Given the description of an element on the screen output the (x, y) to click on. 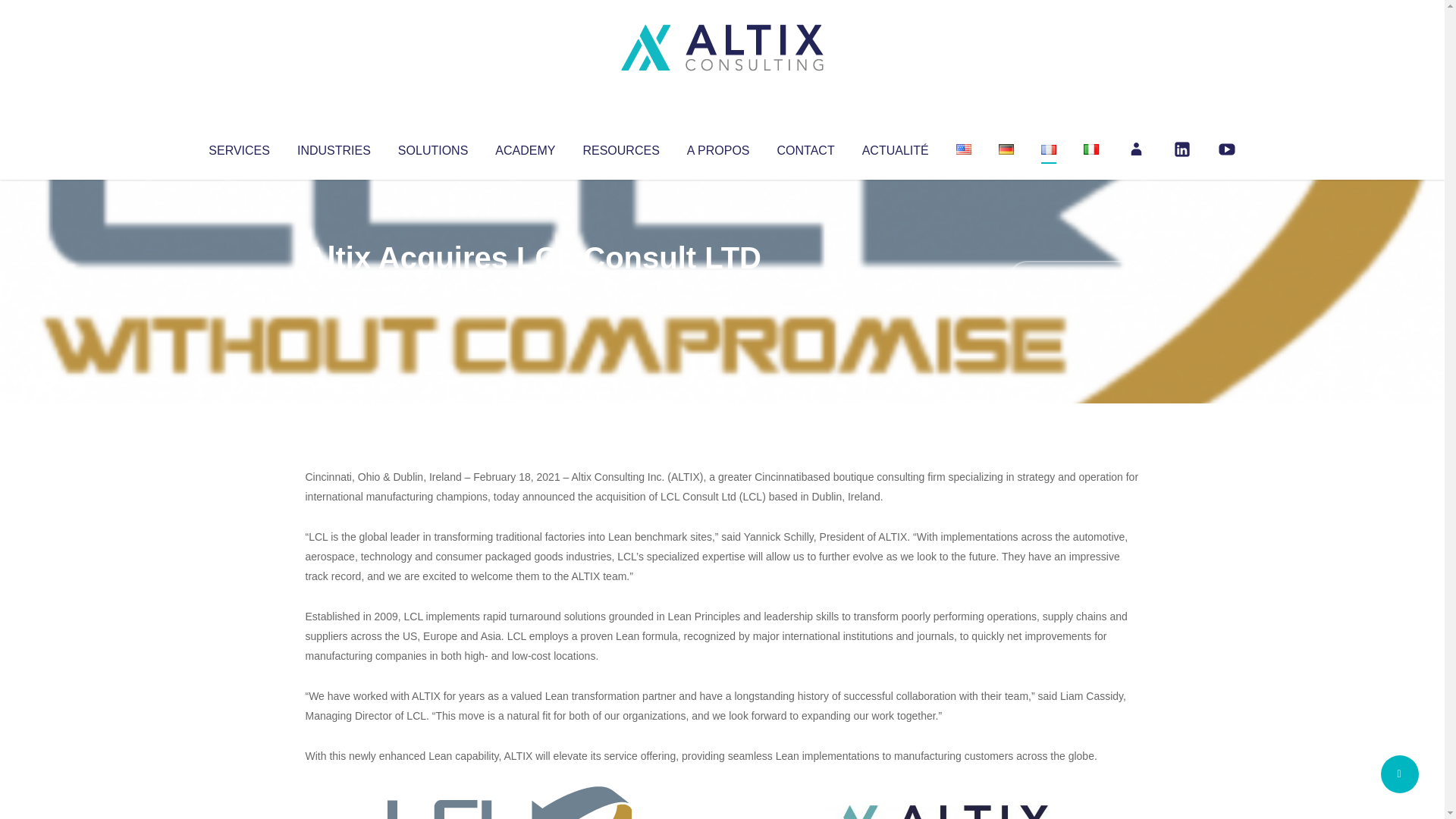
SERVICES (238, 146)
INDUSTRIES (334, 146)
SOLUTIONS (432, 146)
A PROPOS (718, 146)
No Comments (1073, 278)
RESOURCES (620, 146)
Uncategorized (530, 287)
Altix (333, 287)
ACADEMY (524, 146)
Articles par Altix (333, 287)
